Given the description of an element on the screen output the (x, y) to click on. 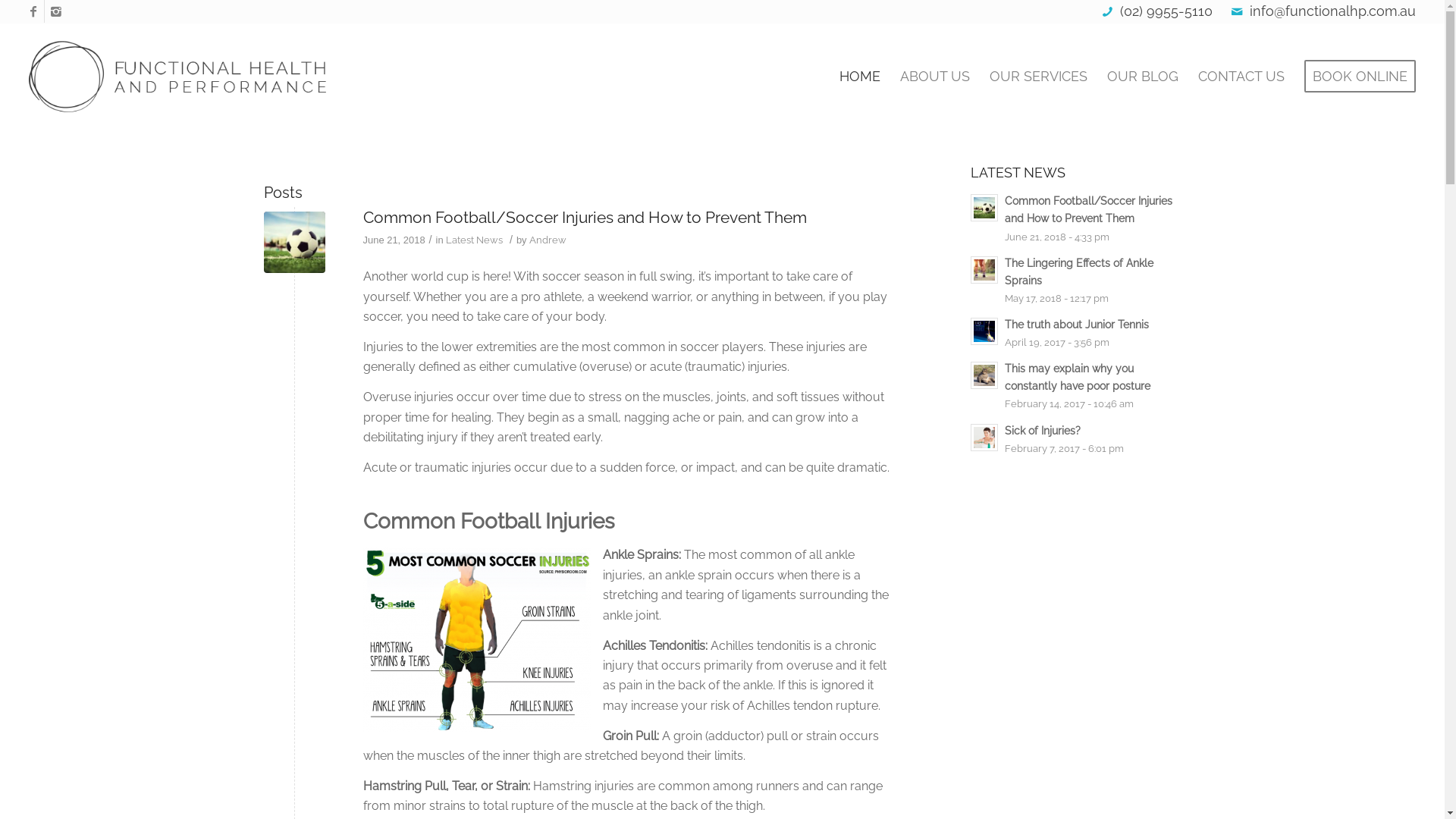
Facebook Element type: hover (32, 11)
OUR SERVICES Element type: text (1038, 76)
HOME Element type: text (859, 76)
OUR BLOG Element type: text (1142, 76)
Common Football/Soccer Injuries and How to Prevent Them Element type: hover (294, 242)
The truth about Junior Tennis
April 19, 2017 - 3:56 pm Element type: text (1075, 332)
BOOK ONLINE Element type: text (1354, 76)
Latest News Element type: text (473, 239)
info@functionalhp.com.au Element type: text (1332, 10)
Common Football/Soccer Injuries and How to Prevent Them Element type: text (584, 216)
ABOUT US Element type: text (934, 76)
Sick of Injuries?
February 7, 2017 - 6:01 pm Element type: text (1075, 438)
CONTACT US Element type: text (1241, 76)
Andrew Element type: text (547, 239)
Instagram Element type: hover (55, 11)
